Given the description of an element on the screen output the (x, y) to click on. 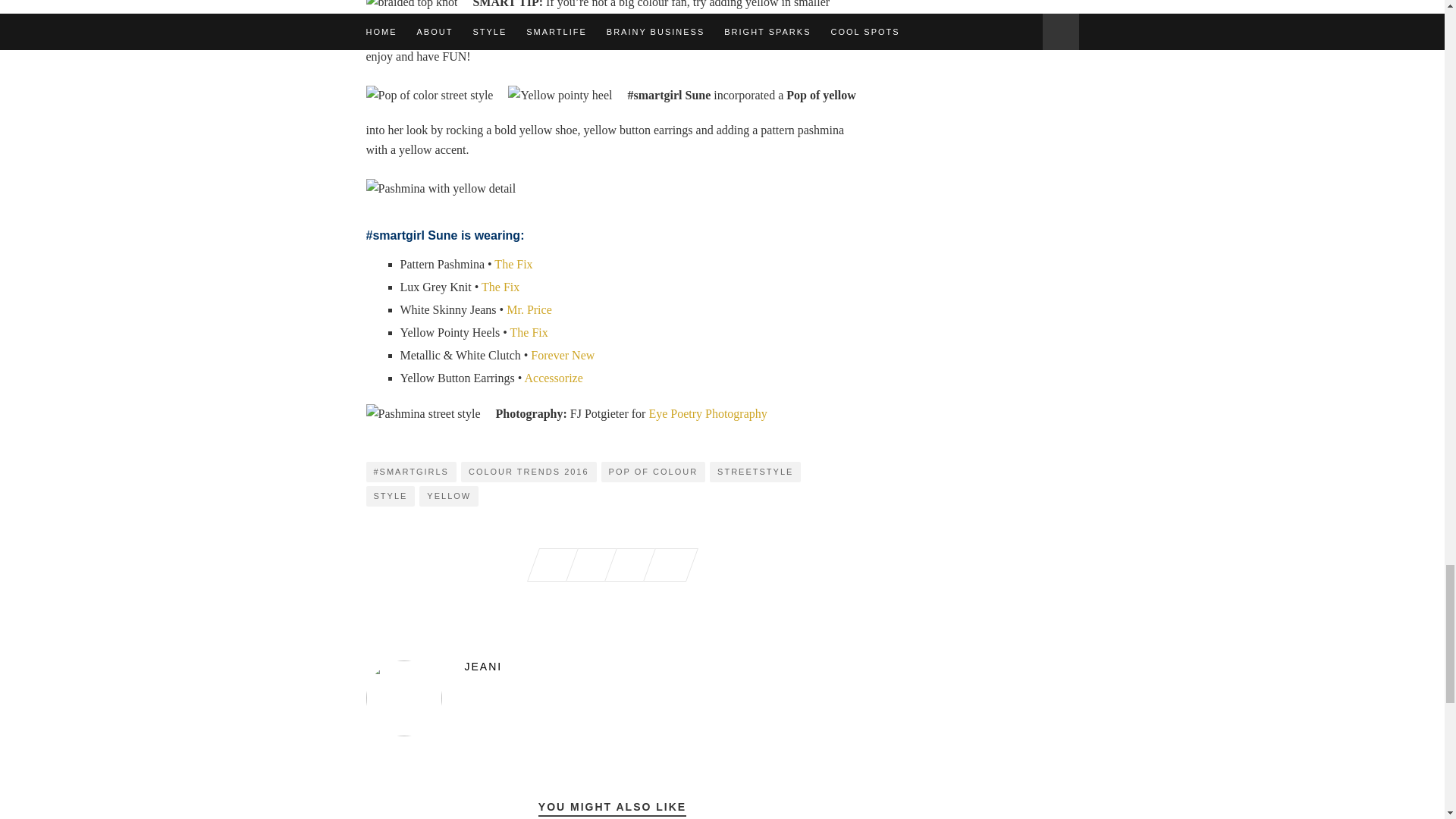
YELLOW (449, 496)
STYLE (389, 496)
POP OF COLOUR (652, 471)
The Fix (500, 286)
The Fix (513, 264)
Forever New (562, 354)
Eye Poetry Photography (707, 413)
The Fix (529, 332)
Posts by Jeani (612, 666)
Accessorize (553, 377)
COLOUR TRENDS 2016 (528, 471)
STREETSTYLE (755, 471)
Mr. Price (528, 309)
